Given the description of an element on the screen output the (x, y) to click on. 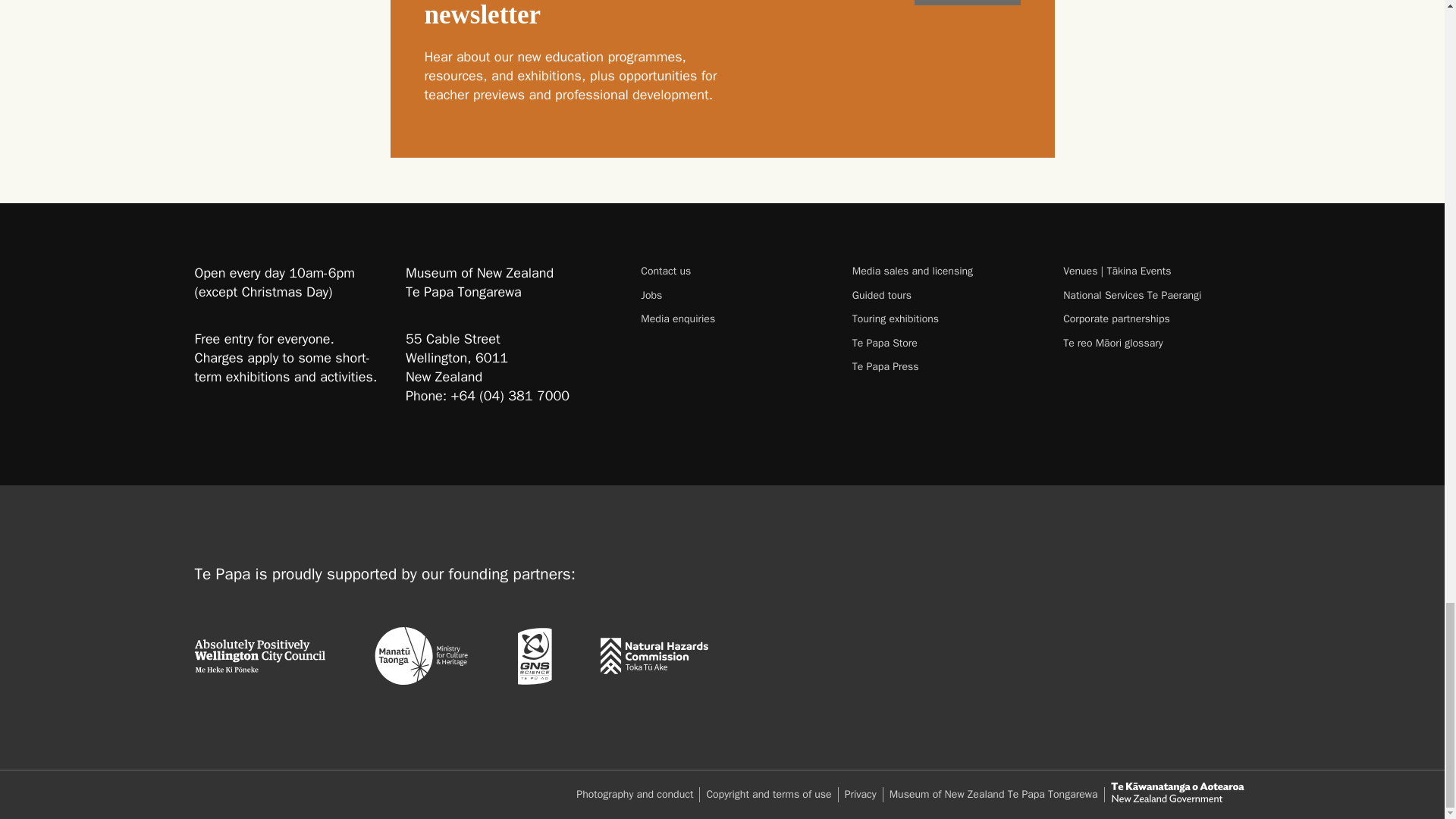
Contact us (733, 270)
Sign up (967, 2)
Media sales and licensing (945, 270)
Jobs (733, 295)
Touring exhibitions (945, 318)
New Zealand Government (1176, 792)
Privacy (863, 794)
Te Papa Press (945, 366)
National Services Te Paerangi (1155, 295)
Te Papa Store (945, 342)
Copyright and terms of use (772, 794)
Corporate partnerships (1155, 318)
Media enquiries (733, 318)
Museum of New Zealand Te Papa Tongarewa (997, 794)
Guided tours (945, 295)
